Given the description of an element on the screen output the (x, y) to click on. 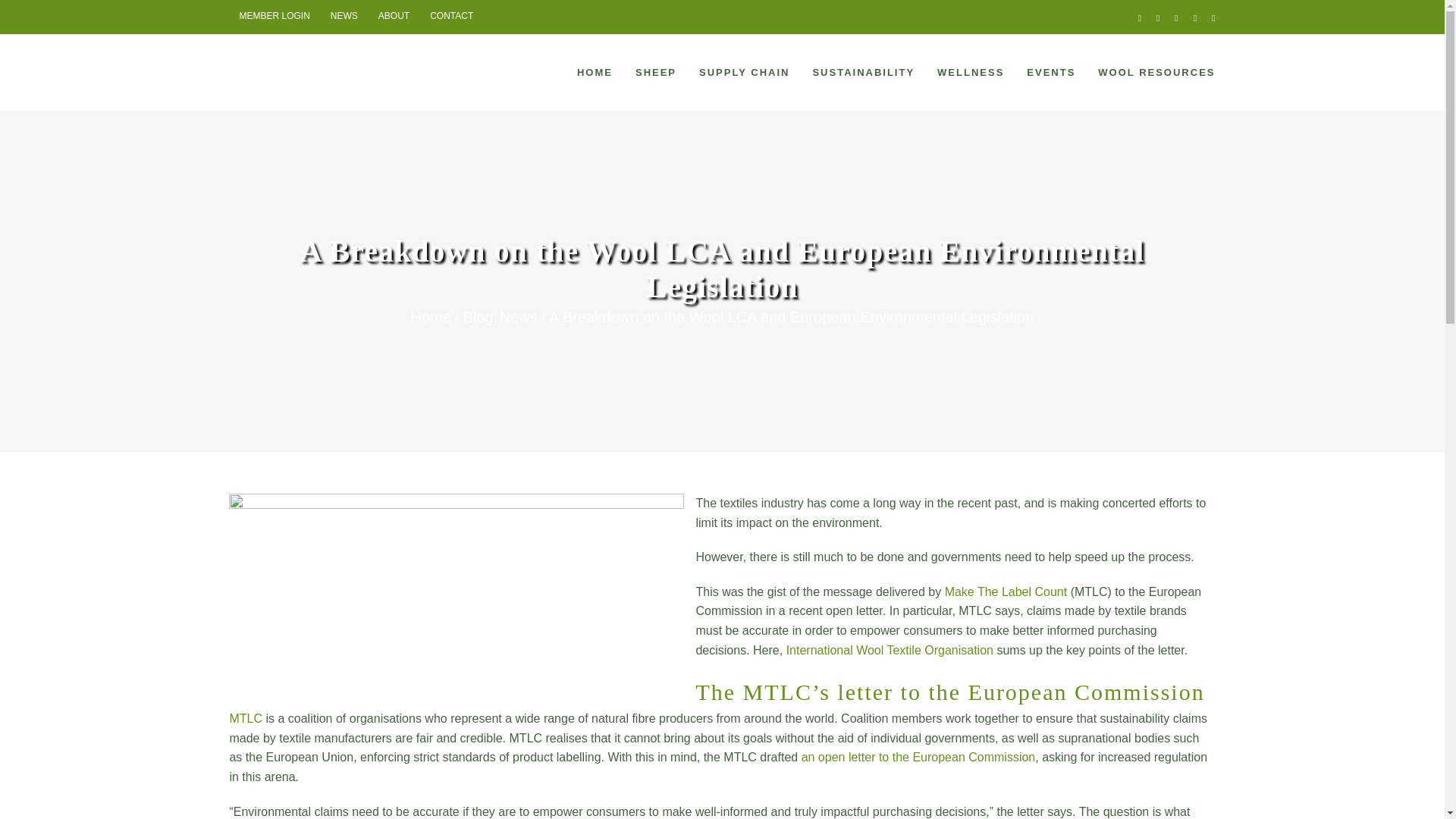
SUPPLY CHAIN (743, 71)
ABOUT (393, 16)
WOOL RESOURCES (1155, 71)
MTLC (245, 717)
Make The Label Count (1005, 591)
Home (430, 316)
CONTACT (451, 16)
MEMBER LOGIN (273, 16)
SUSTAINABILITY (863, 71)
International Wool Textile Organisation (889, 649)
